Given the description of an element on the screen output the (x, y) to click on. 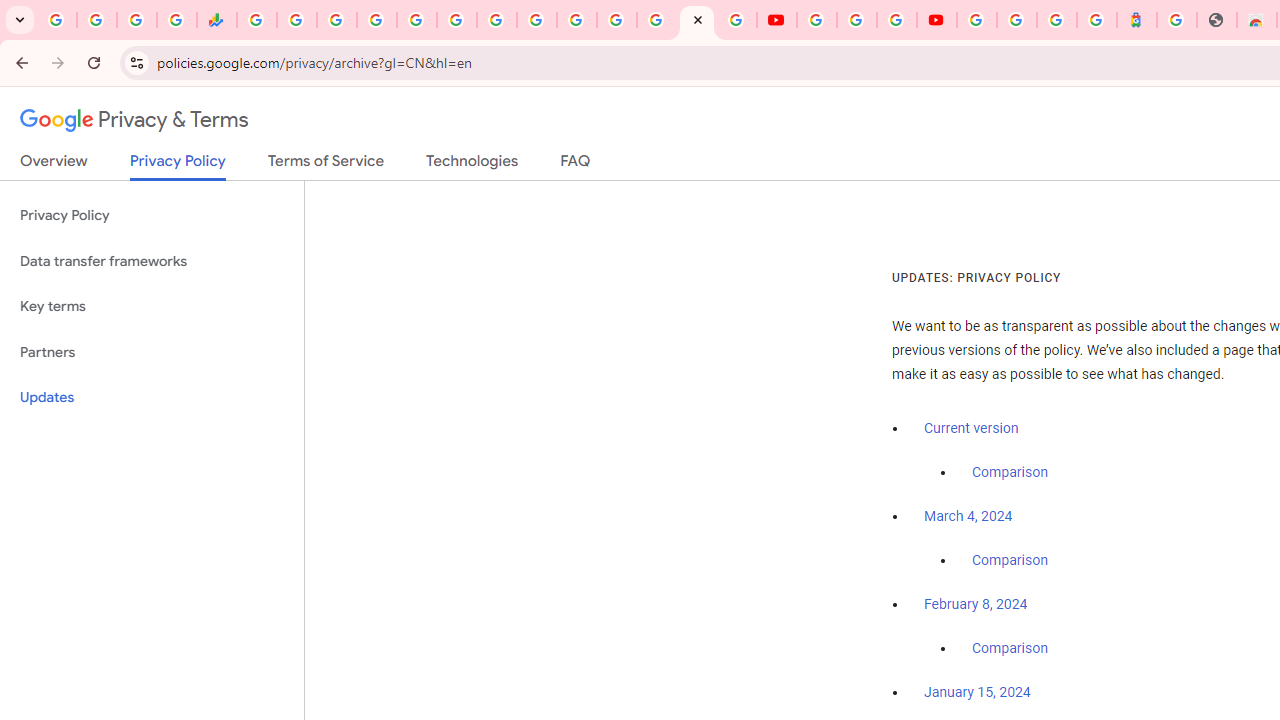
Google Account Help (856, 20)
